Given the description of an element on the screen output the (x, y) to click on. 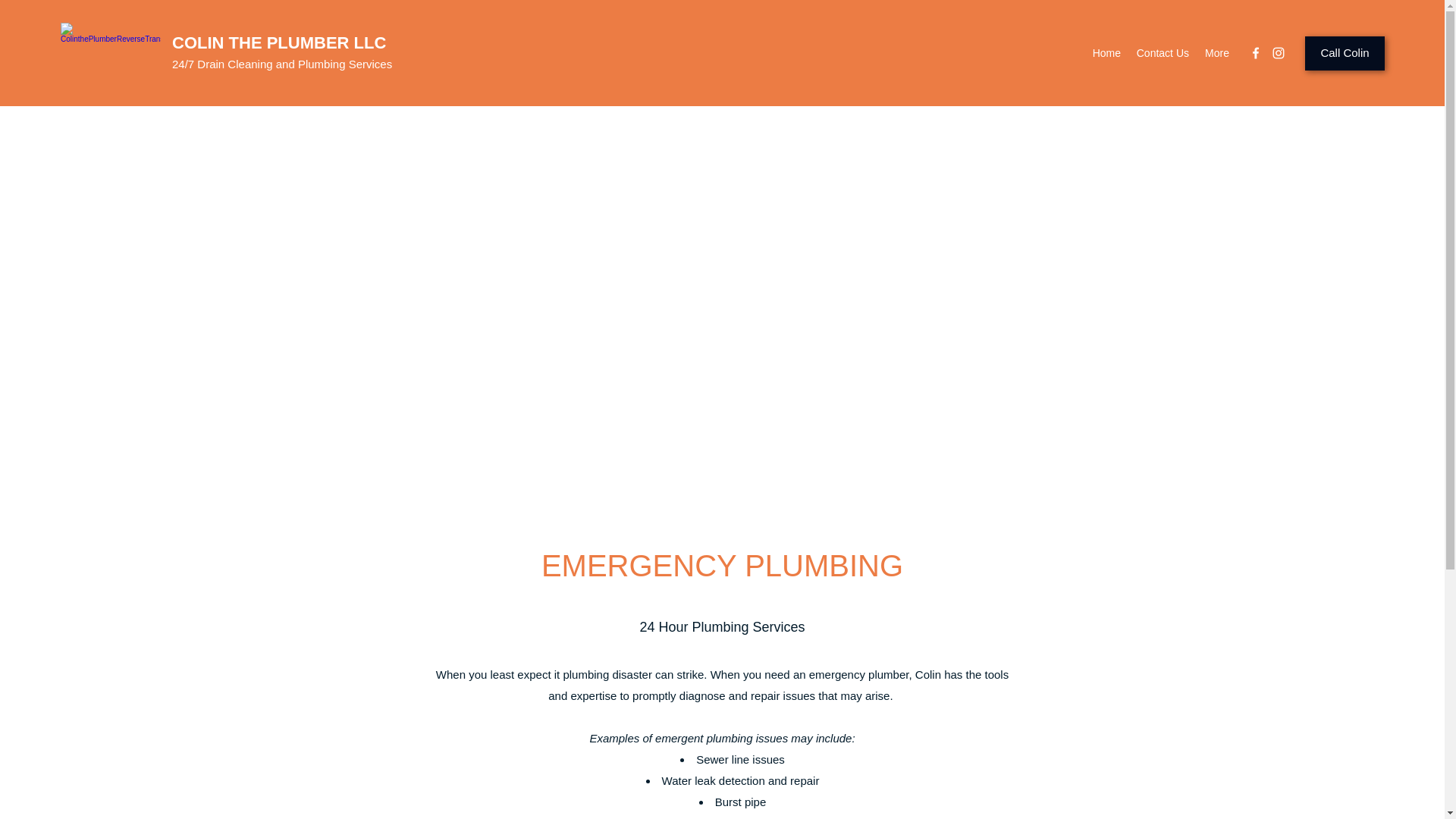
COLIN THE PLUMBER LLC (278, 42)
Call Colin (1344, 53)
Home (1106, 52)
Contact Us (1162, 52)
